Given the description of an element on the screen output the (x, y) to click on. 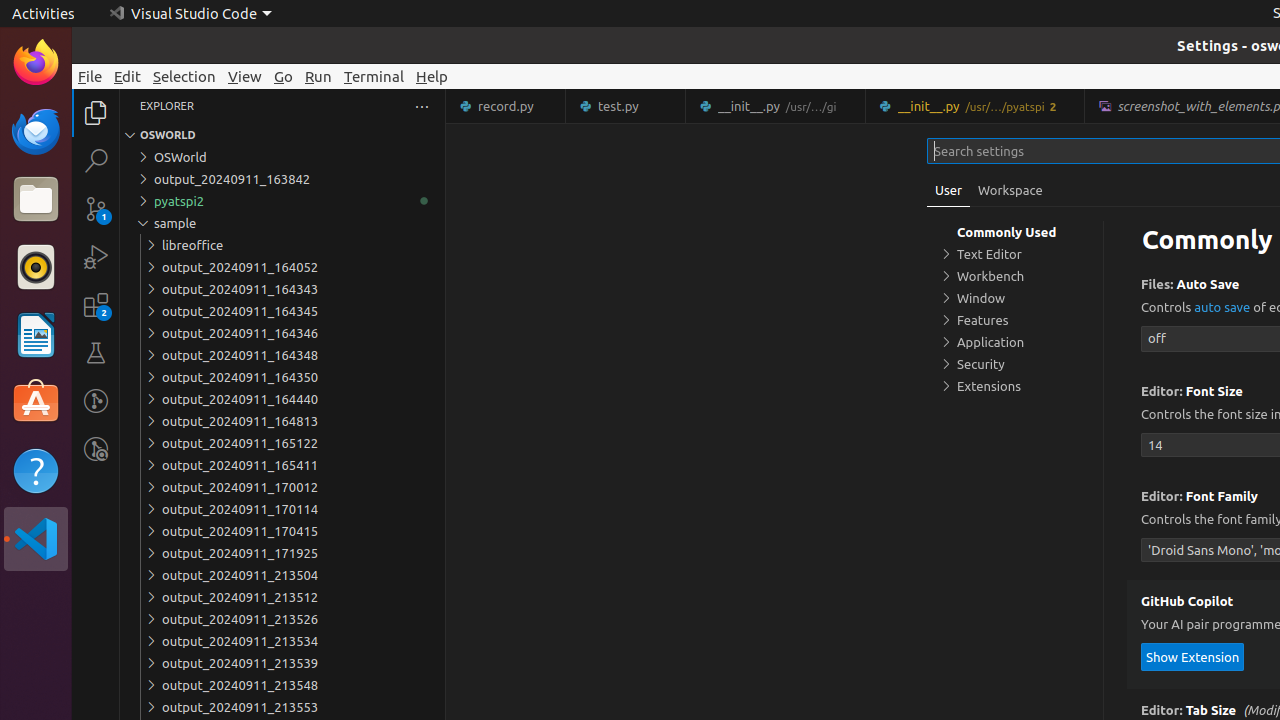
output_20240911_163842 Element type: tree-item (282, 179)
Run and Debug (Ctrl+Shift+D) Element type: page-tab (96, 257)
output_20240911_213548 Element type: tree-item (282, 685)
Explorer (Ctrl+Shift+E) Element type: page-tab (96, 113)
output_20240911_164343 Element type: tree-item (282, 289)
